Given the description of an element on the screen output the (x, y) to click on. 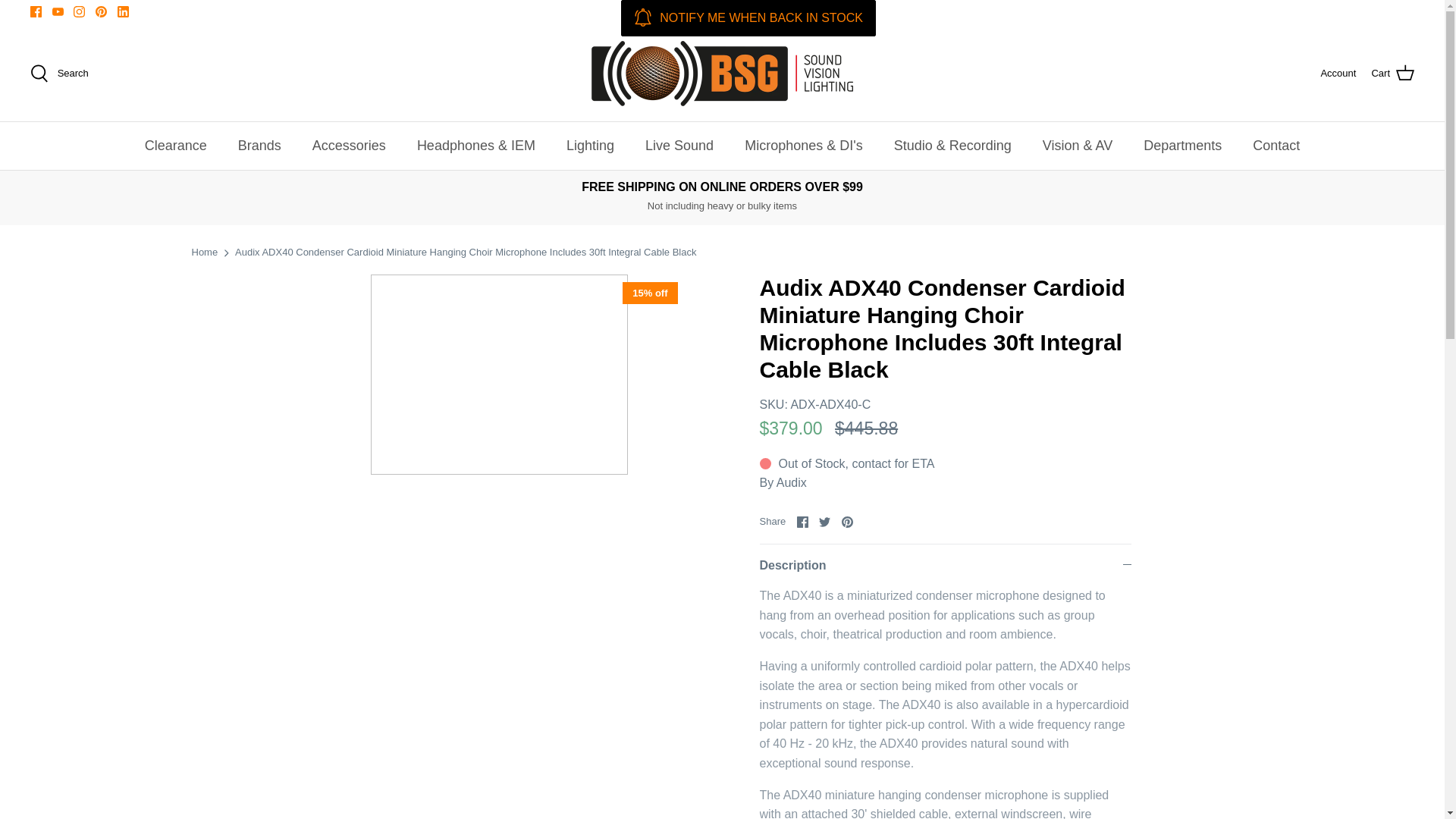
Youtube (58, 11)
Pinterest (101, 11)
Cart (1392, 73)
Instagram (79, 11)
Youtube (58, 11)
Search (59, 73)
Instagram (79, 11)
Facebook (802, 521)
Accessories (348, 145)
Pinterest (847, 521)
